Given the description of an element on the screen output the (x, y) to click on. 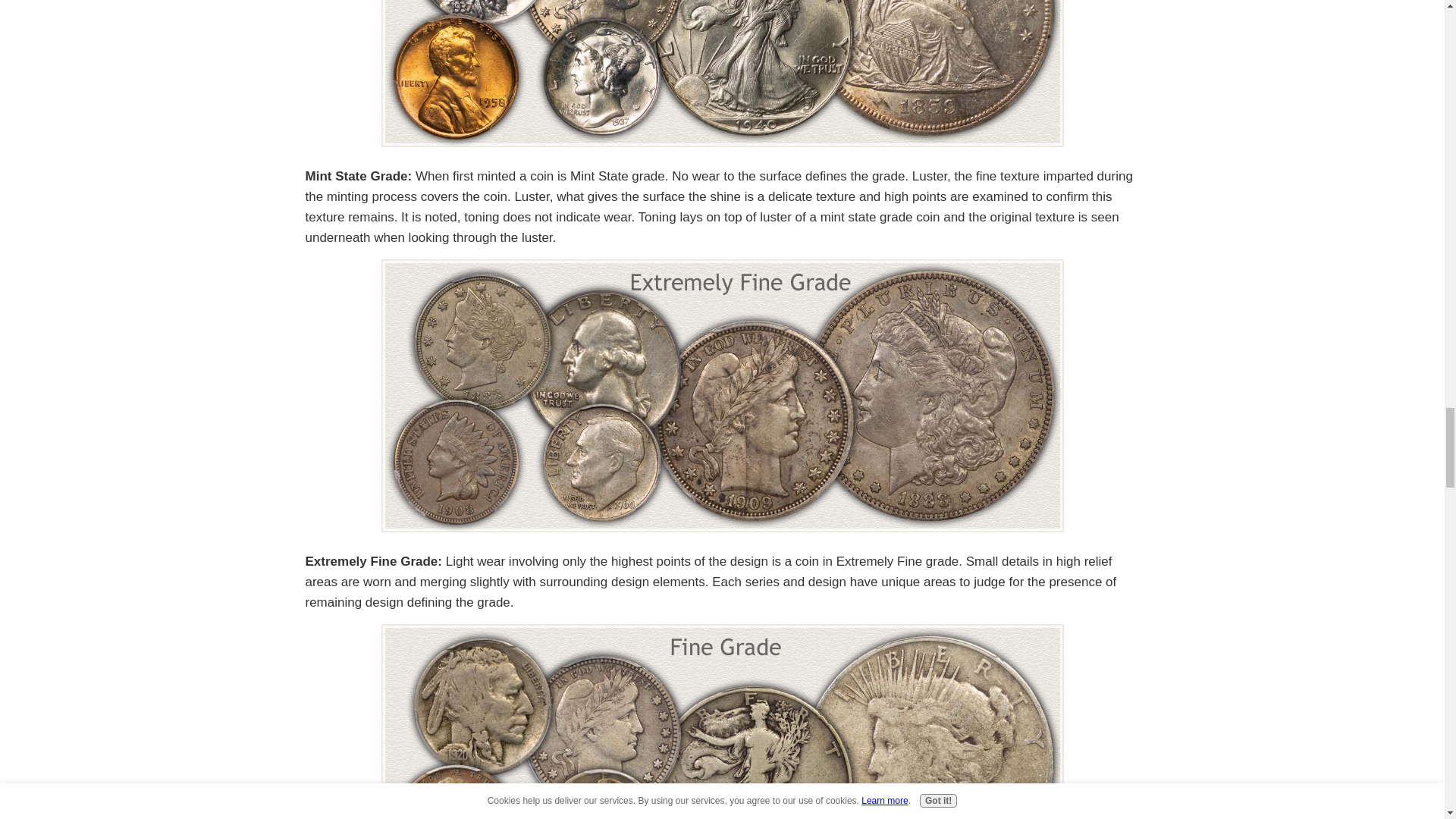
Examples of Mint State Grade Coins (721, 73)
Examples of Fine Grade Coins (721, 721)
